Given the description of an element on the screen output the (x, y) to click on. 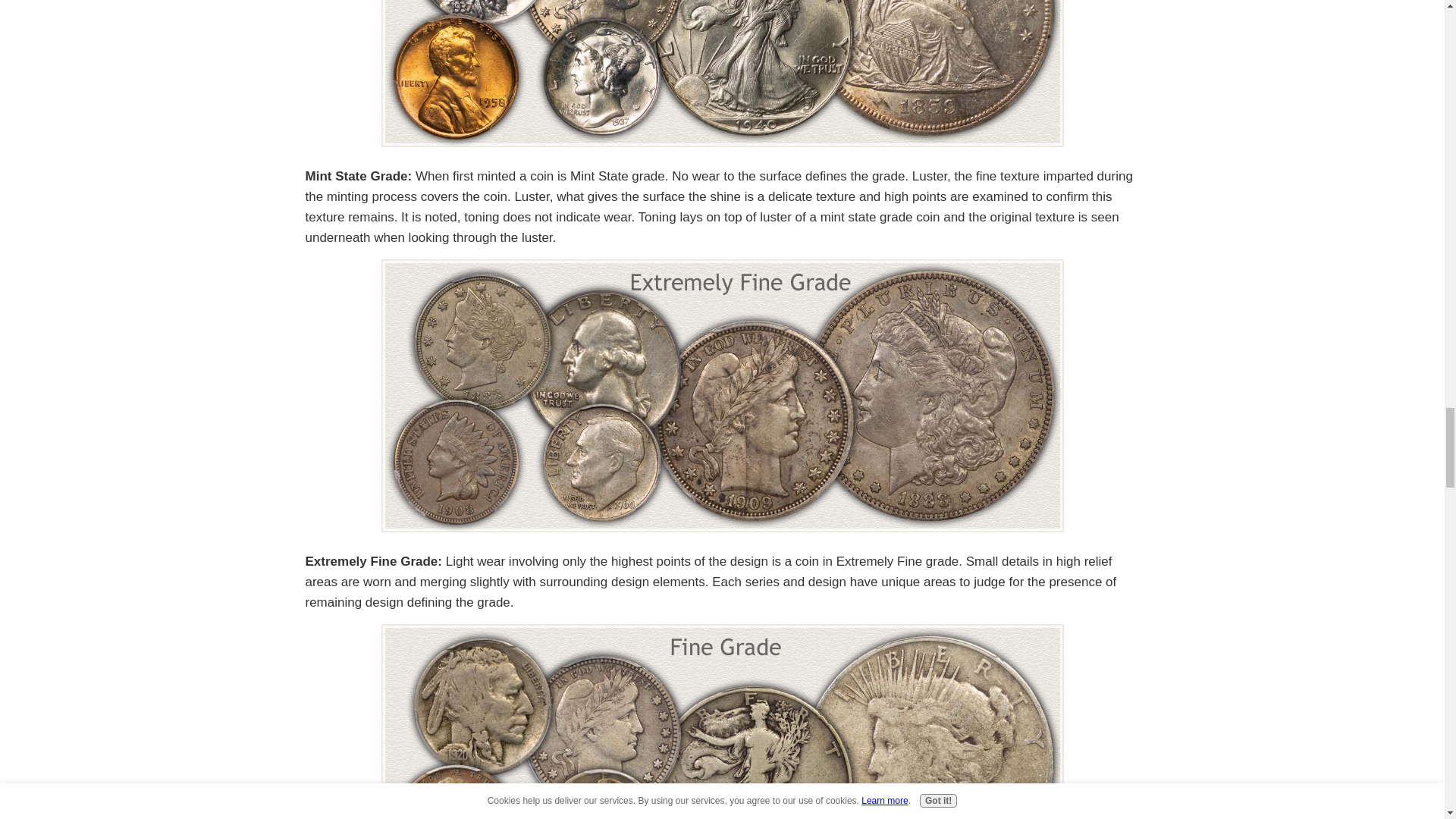
Examples of Mint State Grade Coins (721, 73)
Examples of Fine Grade Coins (721, 721)
